Given the description of an element on the screen output the (x, y) to click on. 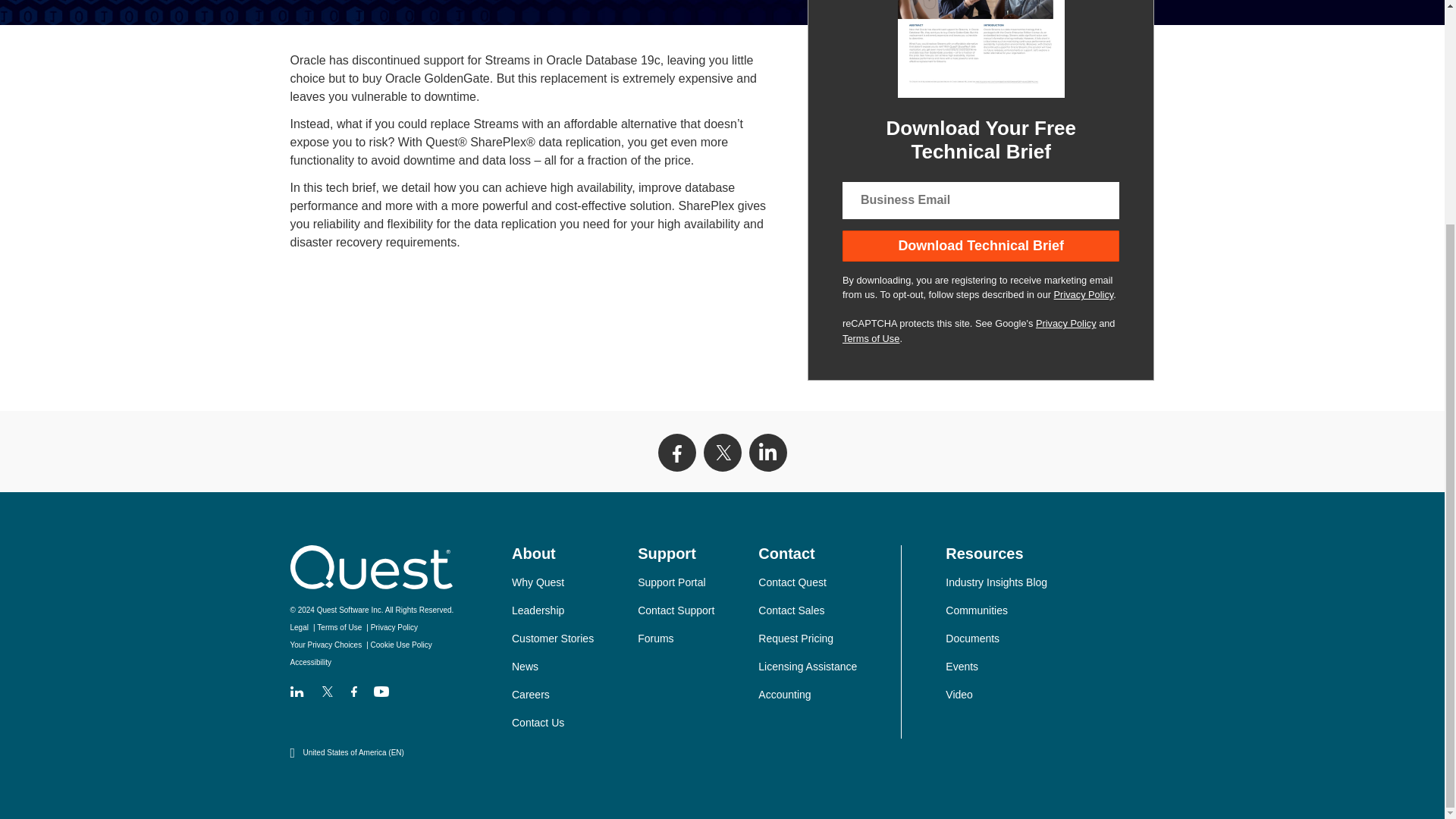
Facebook (676, 452)
Linkedin (768, 452)
Download Technical Brief (981, 245)
Twitter (722, 452)
